Given the description of an element on the screen output the (x, y) to click on. 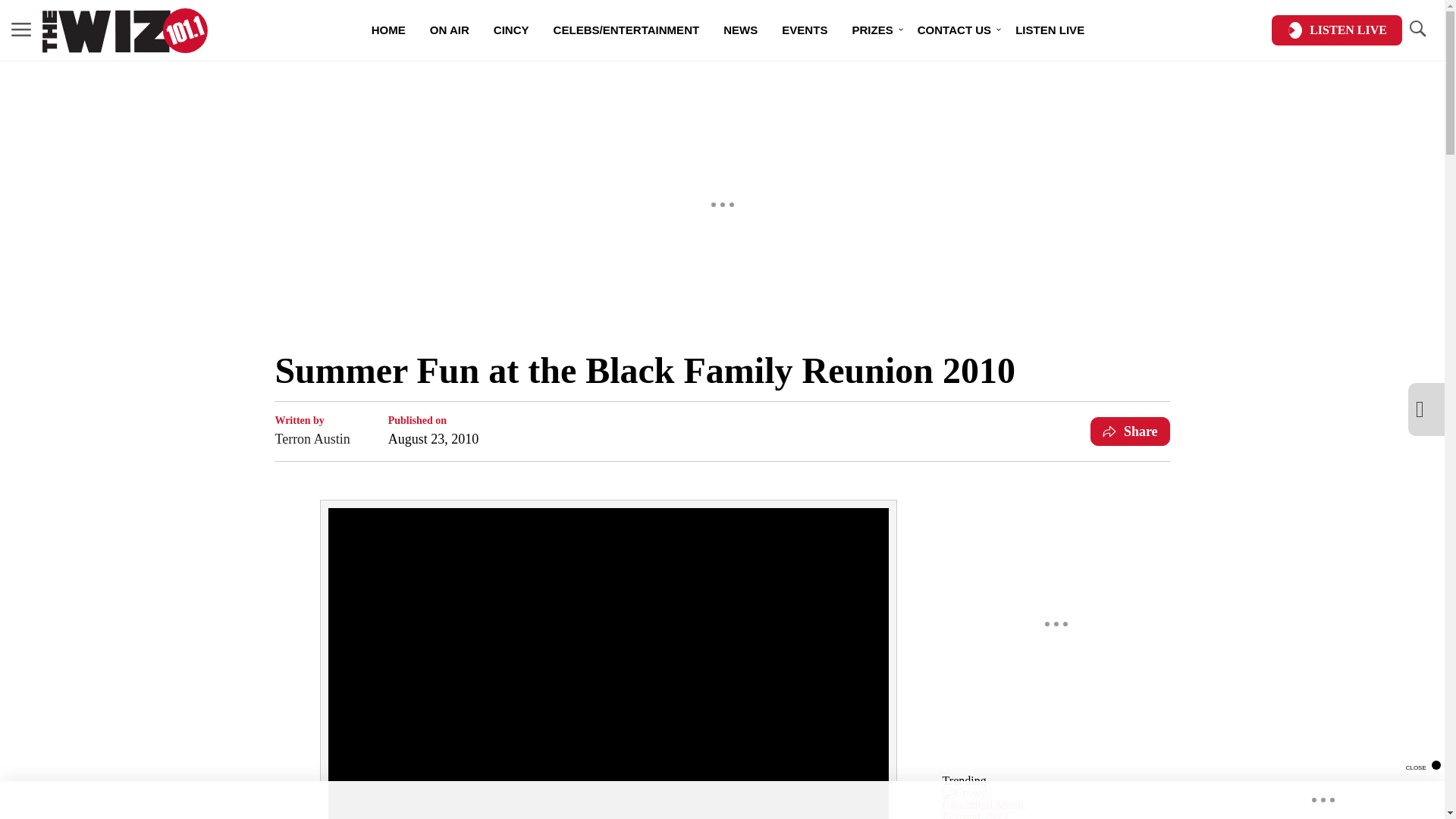
Share (1130, 430)
HOME (388, 30)
ON AIR (449, 30)
PRIZES (872, 30)
LISTEN LIVE (1049, 30)
MENU (20, 29)
CINCY (511, 30)
NEWS (740, 30)
Terron Austin (312, 438)
LISTEN LIVE (1336, 30)
TOGGLE SEARCH (1417, 30)
MENU (20, 30)
CONTACT US (954, 30)
EVENTS (805, 30)
TOGGLE SEARCH (1417, 28)
